Given the description of an element on the screen output the (x, y) to click on. 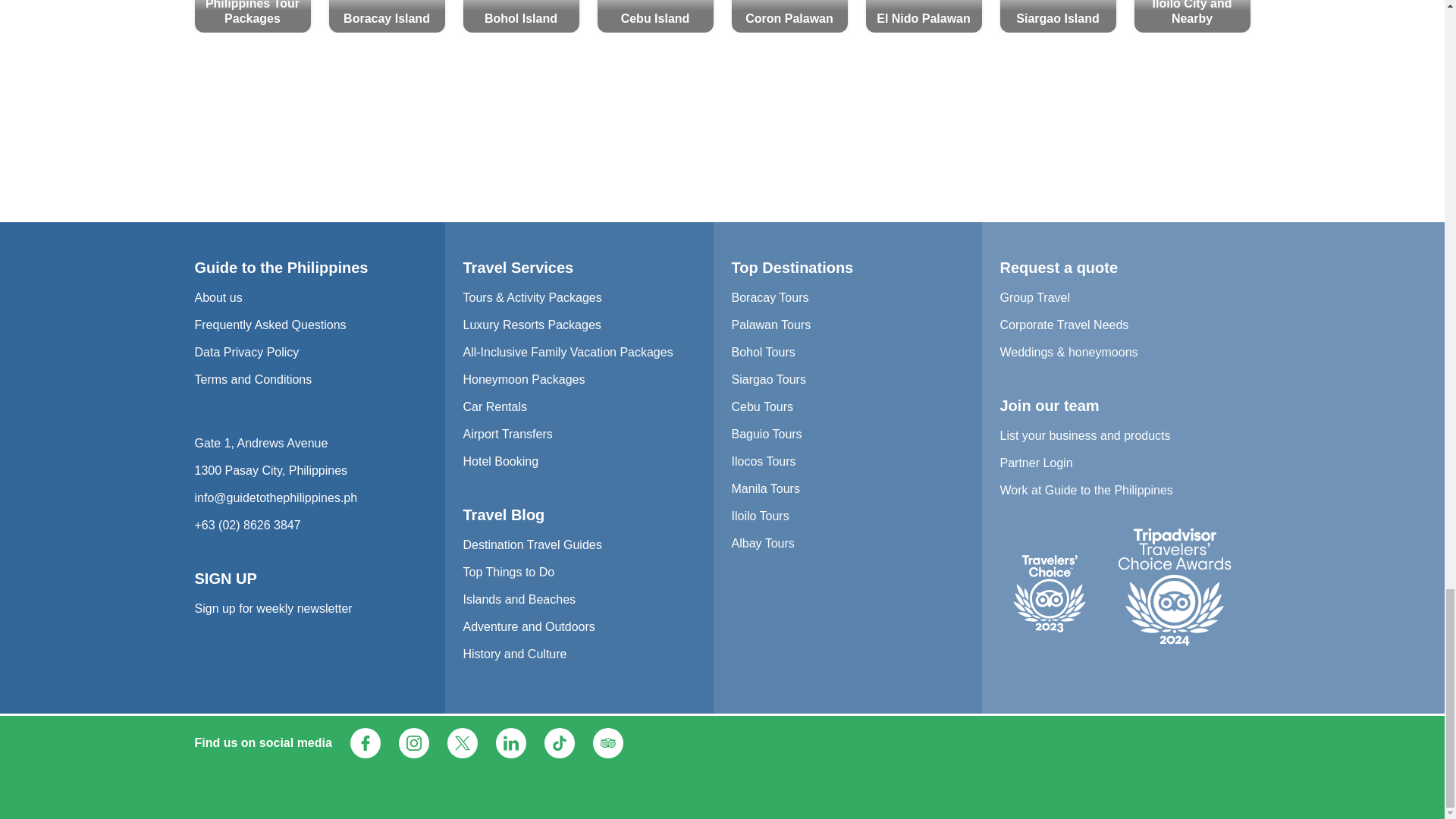
Iloilo City and Nearby (1192, 16)
Siargao Island (1057, 16)
Coron Palawan (789, 16)
Philippines Tour Packages (251, 16)
Cebu Island (655, 16)
El Nido Palawan (924, 16)
Bohol Island (520, 16)
Boracay Island (387, 16)
